Given the description of an element on the screen output the (x, y) to click on. 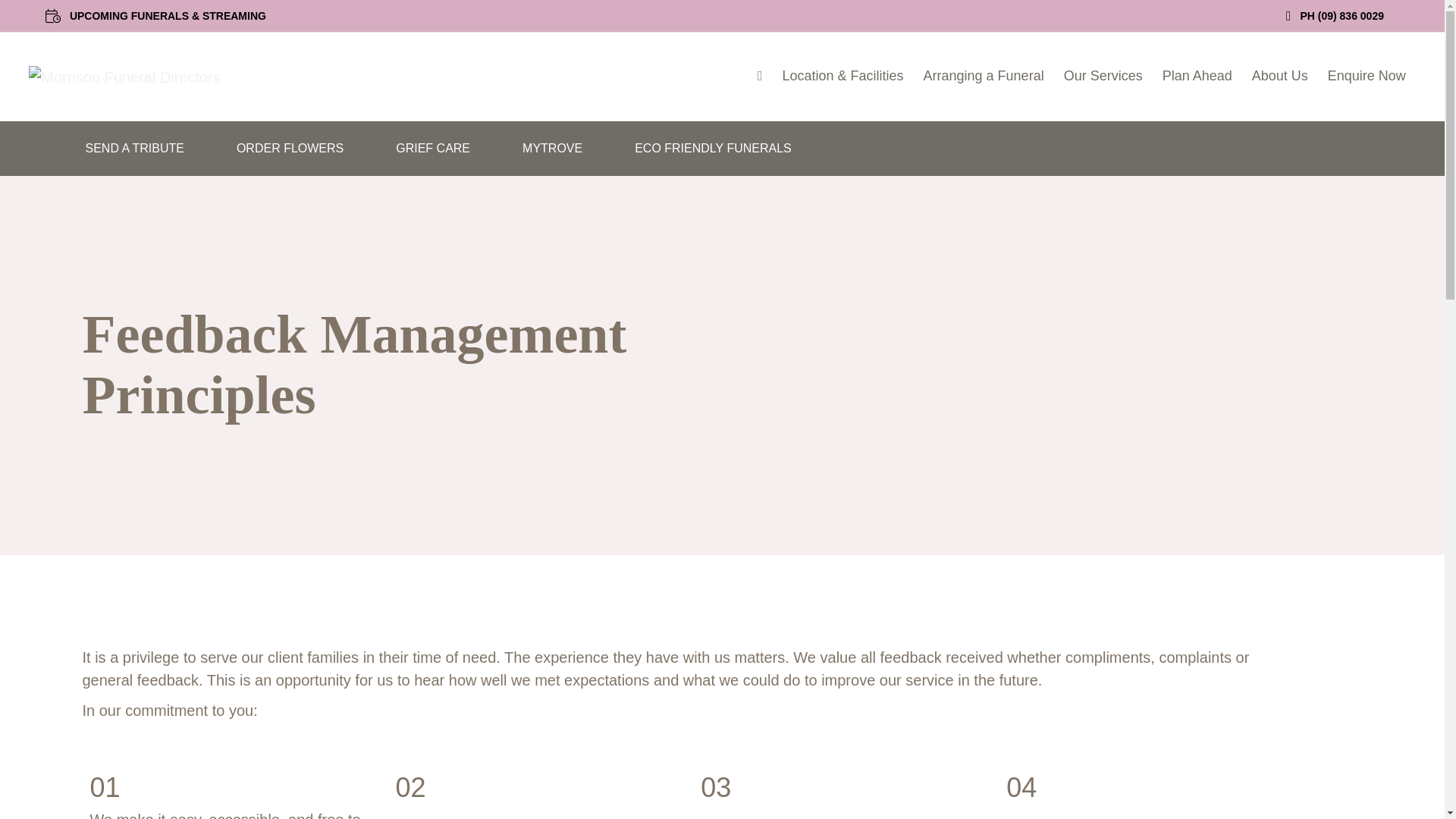
MYTROVE (552, 148)
SEND A TRIBUTE (134, 148)
ORDER FLOWERS (290, 148)
About Us (1279, 76)
ECO FRIENDLY FUNERALS (712, 148)
GRIEF CARE (432, 148)
Plan Ahead (1197, 76)
Enquire Now (1366, 76)
Arranging a Funeral (984, 76)
Our Services (1103, 76)
